Given the description of an element on the screen output the (x, y) to click on. 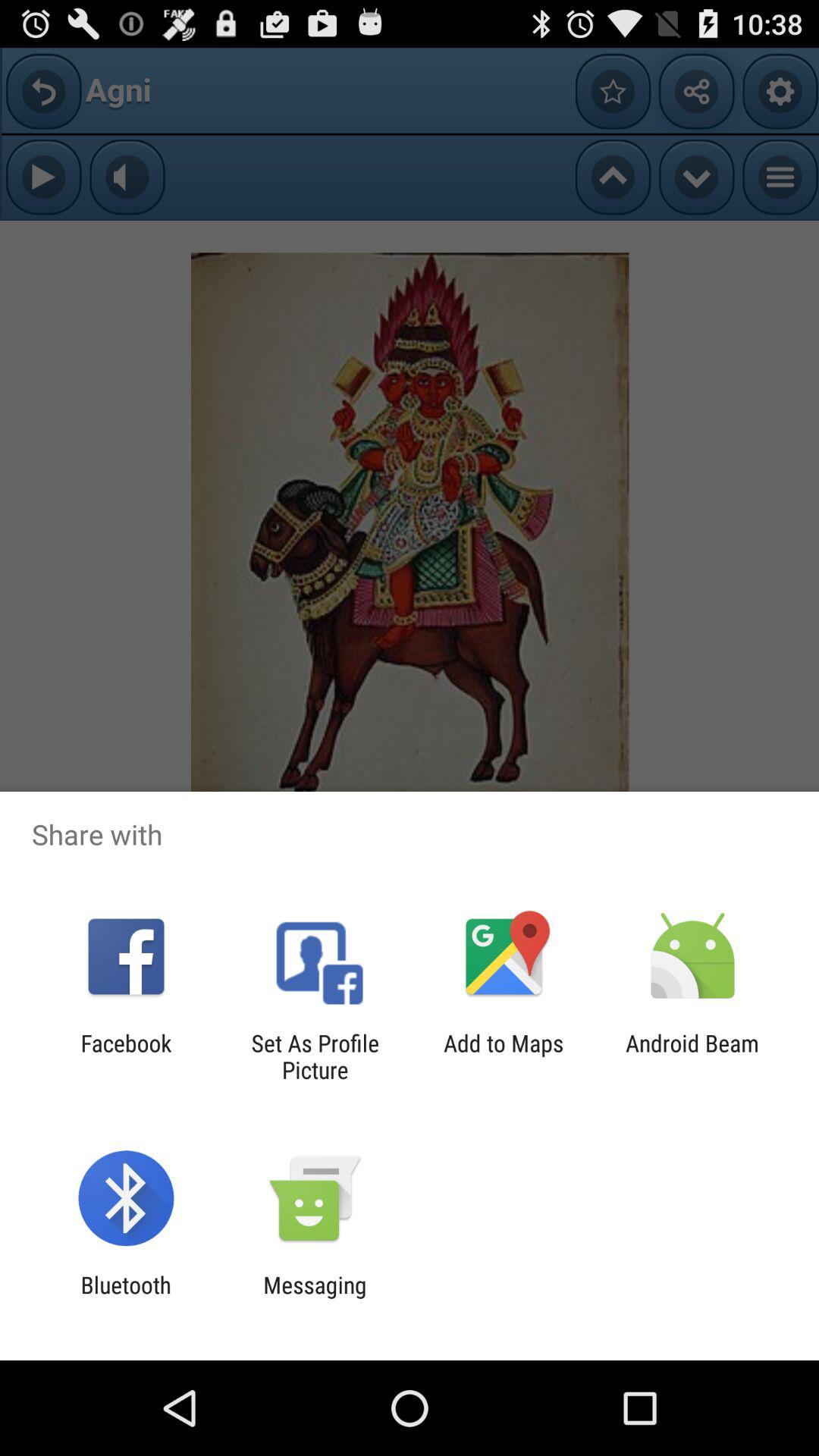
jump to the facebook icon (125, 1056)
